Given the description of an element on the screen output the (x, y) to click on. 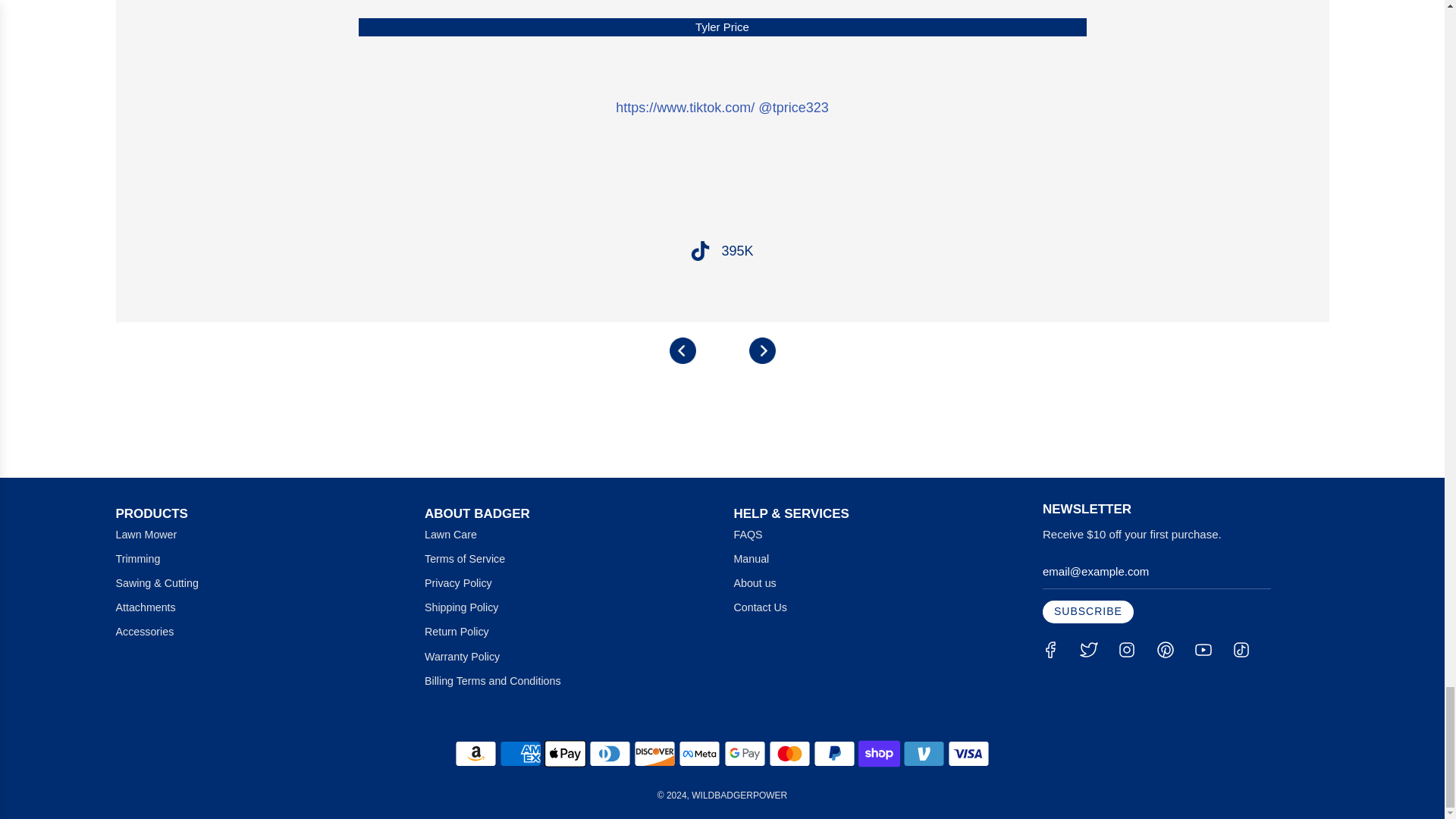
Discover (654, 753)
Diners Club (609, 753)
Amazon (475, 753)
American Express (520, 753)
Subscribe (1088, 611)
Apple Pay (565, 753)
